Given the description of an element on the screen output the (x, y) to click on. 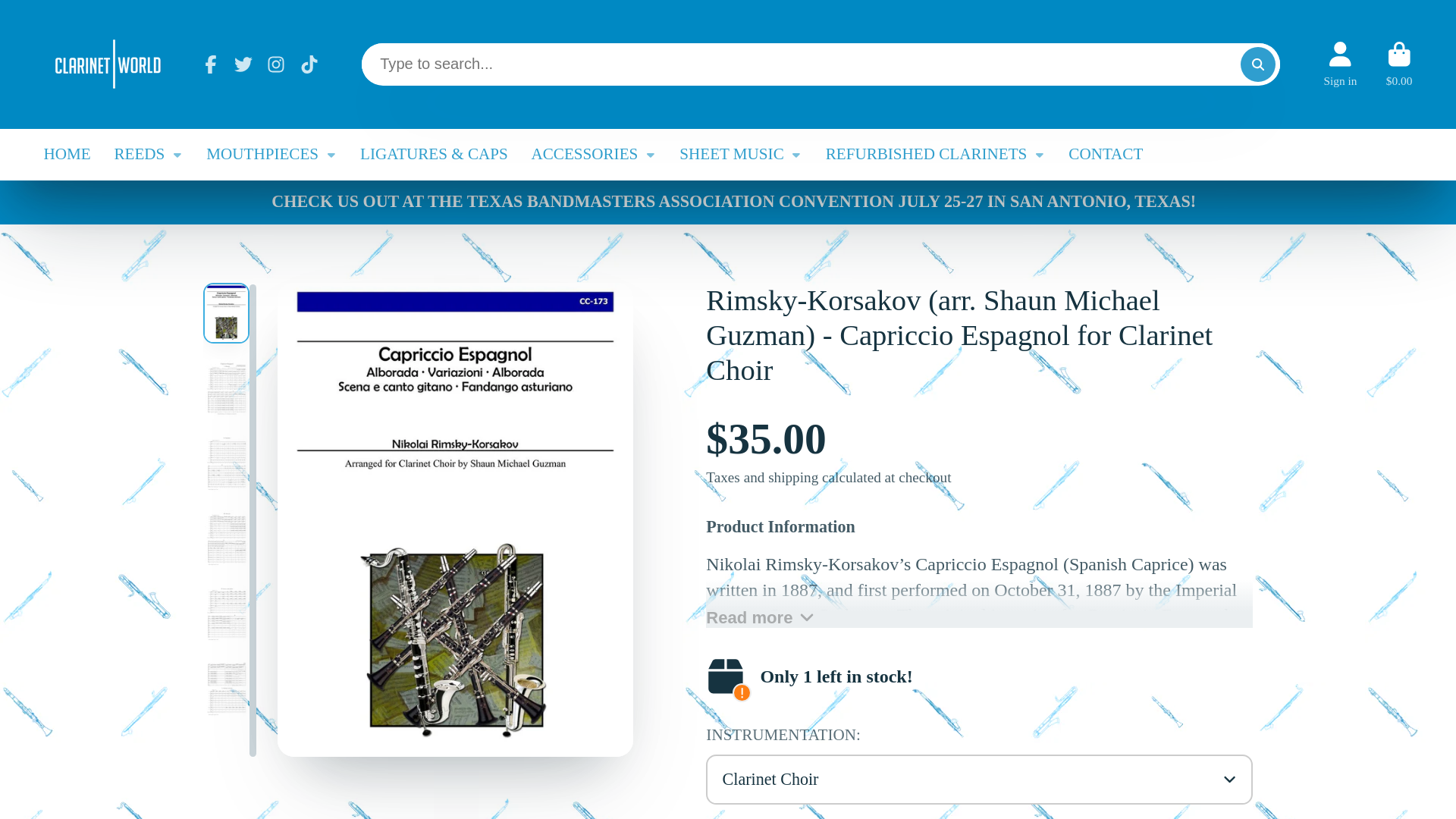
Logo (108, 64)
MOUTHPIECES (271, 154)
Facebook (210, 64)
SHEET MUSIC (740, 154)
HOME (66, 154)
Instagram (275, 64)
Twitter (242, 64)
TikTok (308, 64)
REEDS (148, 154)
ACCESSORIES (593, 154)
